Given the description of an element on the screen output the (x, y) to click on. 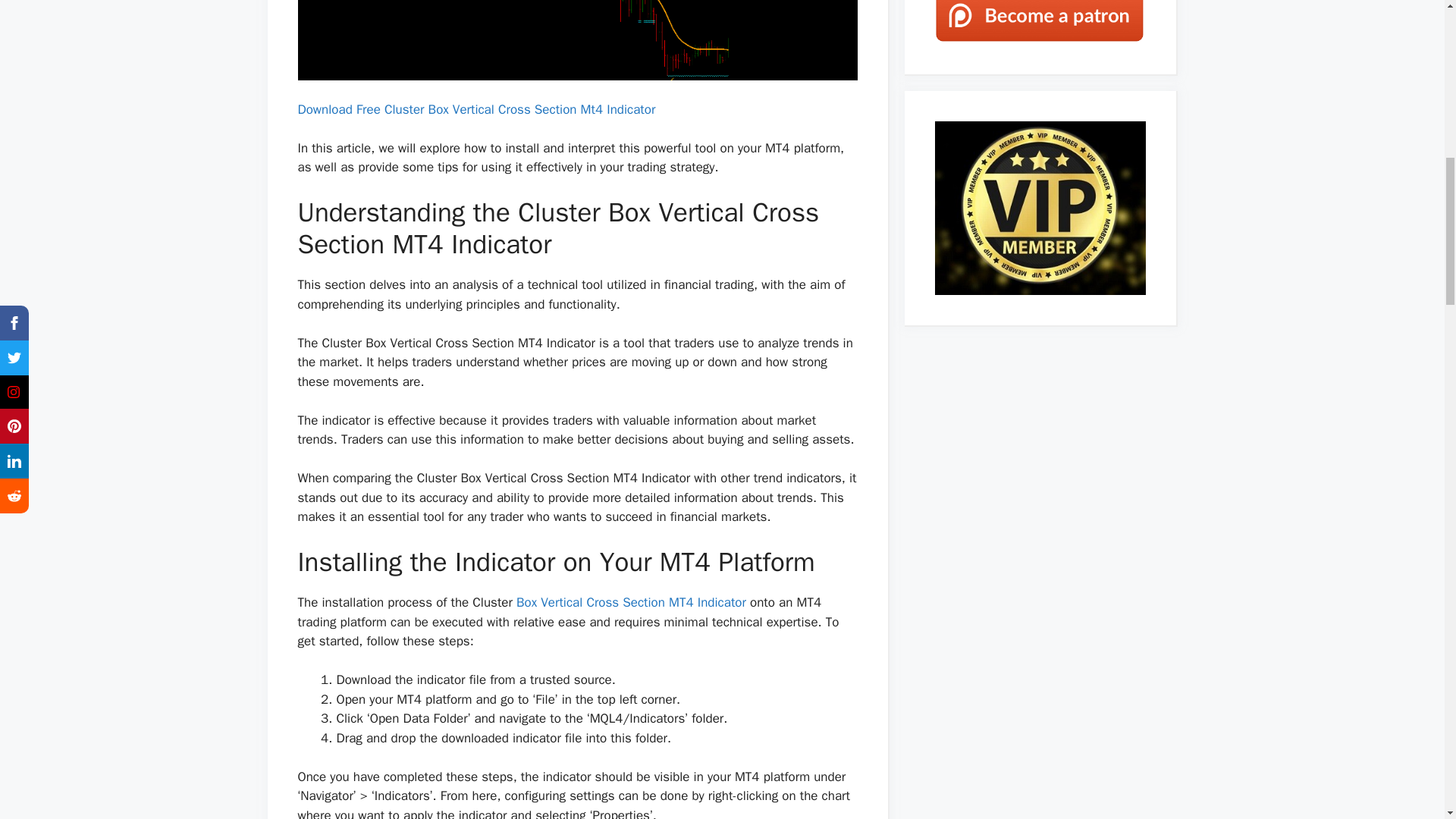
Box Vertical Cross Section MT4 Indicator (630, 602)
